Given the description of an element on the screen output the (x, y) to click on. 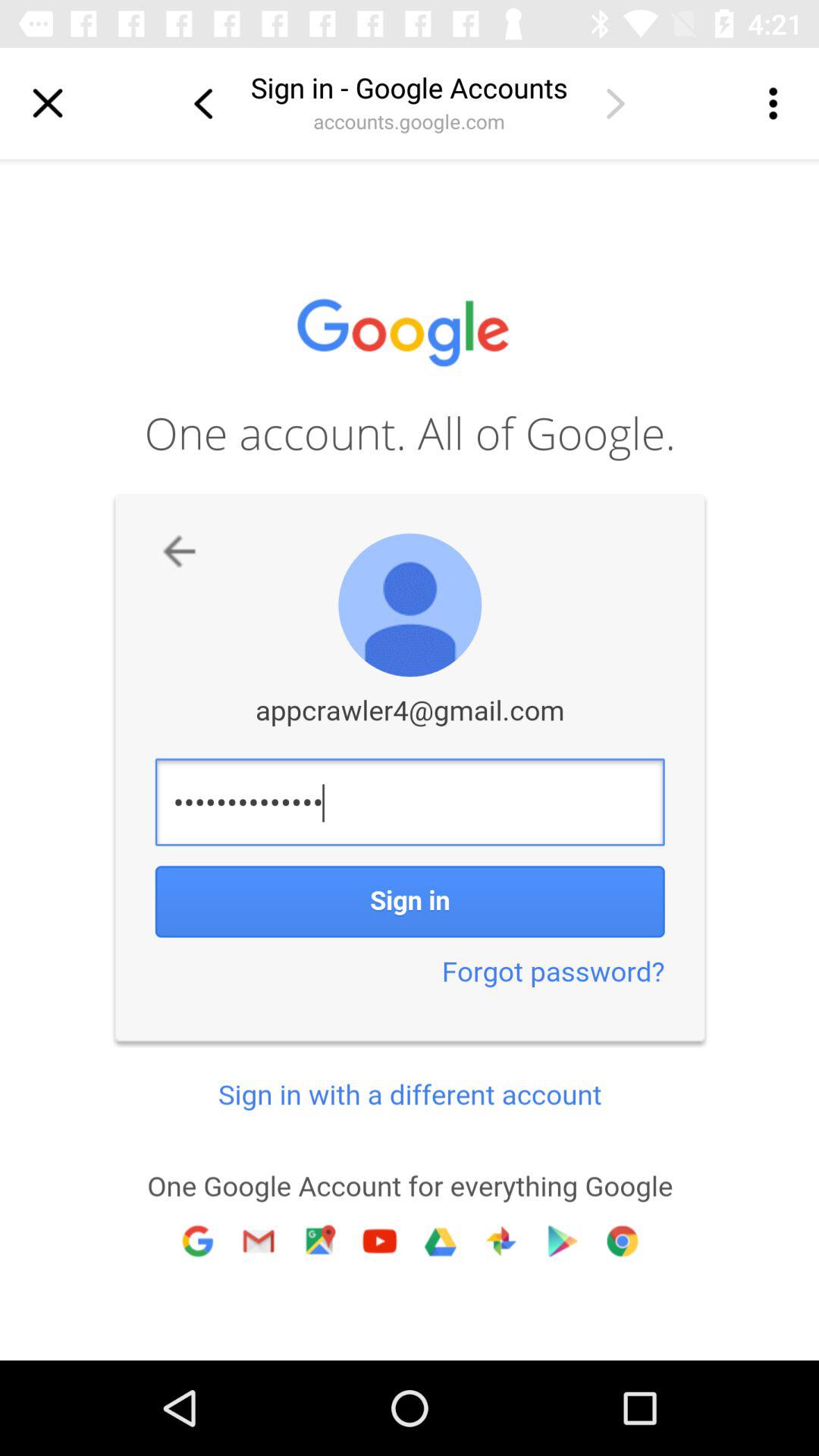
exit (47, 103)
